Given the description of an element on the screen output the (x, y) to click on. 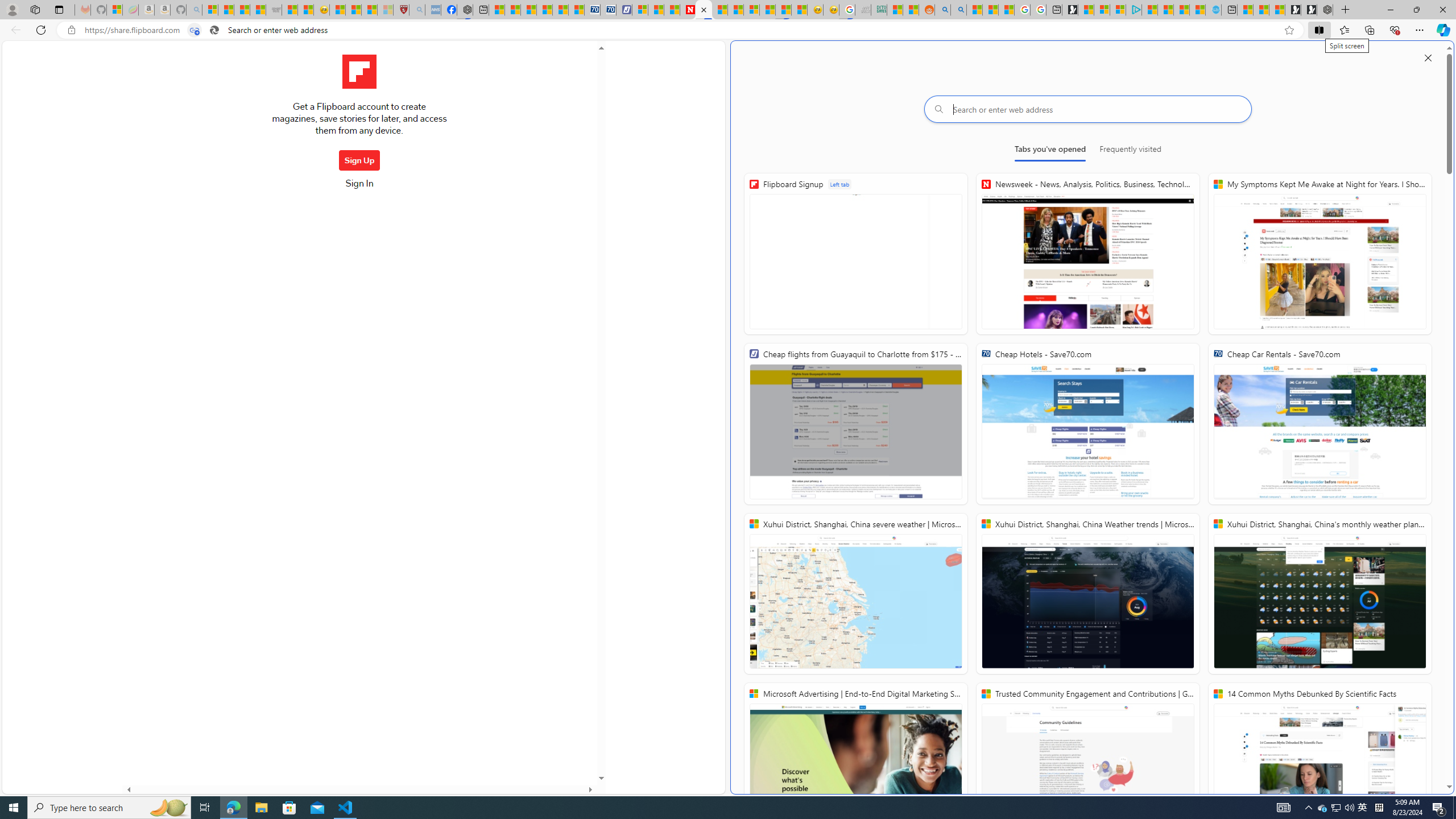
Recipes - MSN (337, 9)
Play Free Online Games | Games from Microsoft Start (1308, 9)
